Given the description of an element on the screen output the (x, y) to click on. 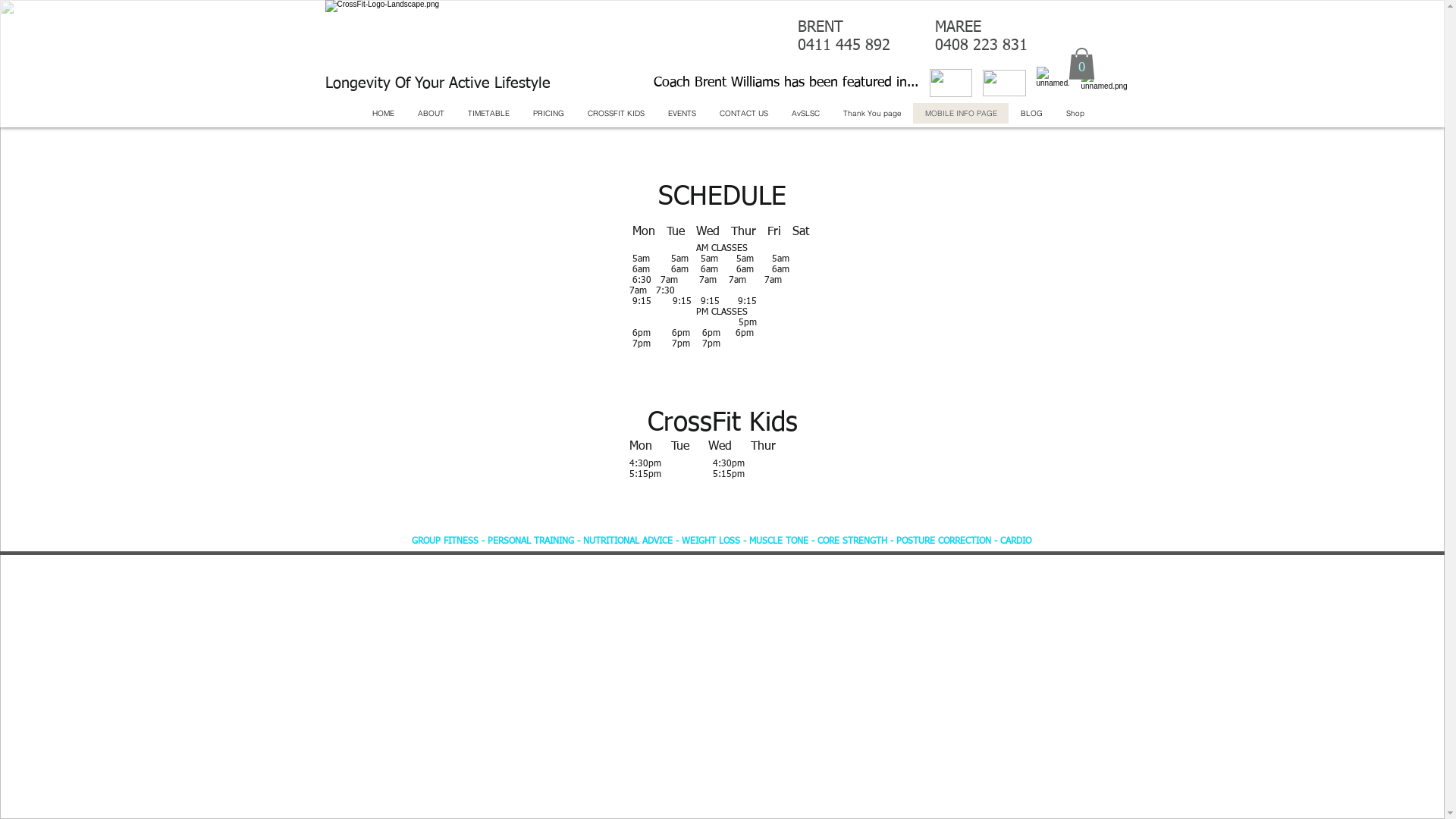
0 Element type: text (1080, 63)
HOME Element type: text (382, 113)
TIMETABLE Element type: text (487, 113)
EVENTS Element type: text (681, 113)
PRICING Element type: text (547, 113)
Thank You page Element type: text (872, 113)
AvSLSC Element type: text (805, 113)
BLOG Element type: text (1031, 113)
MOBILE INFO PAGE Element type: text (960, 113)
CROSSFIT KIDS Element type: text (615, 113)
ABOUT Element type: text (430, 113)
Shop Element type: text (1074, 113)
CONTACT US Element type: text (743, 113)
